Given the description of an element on the screen output the (x, y) to click on. 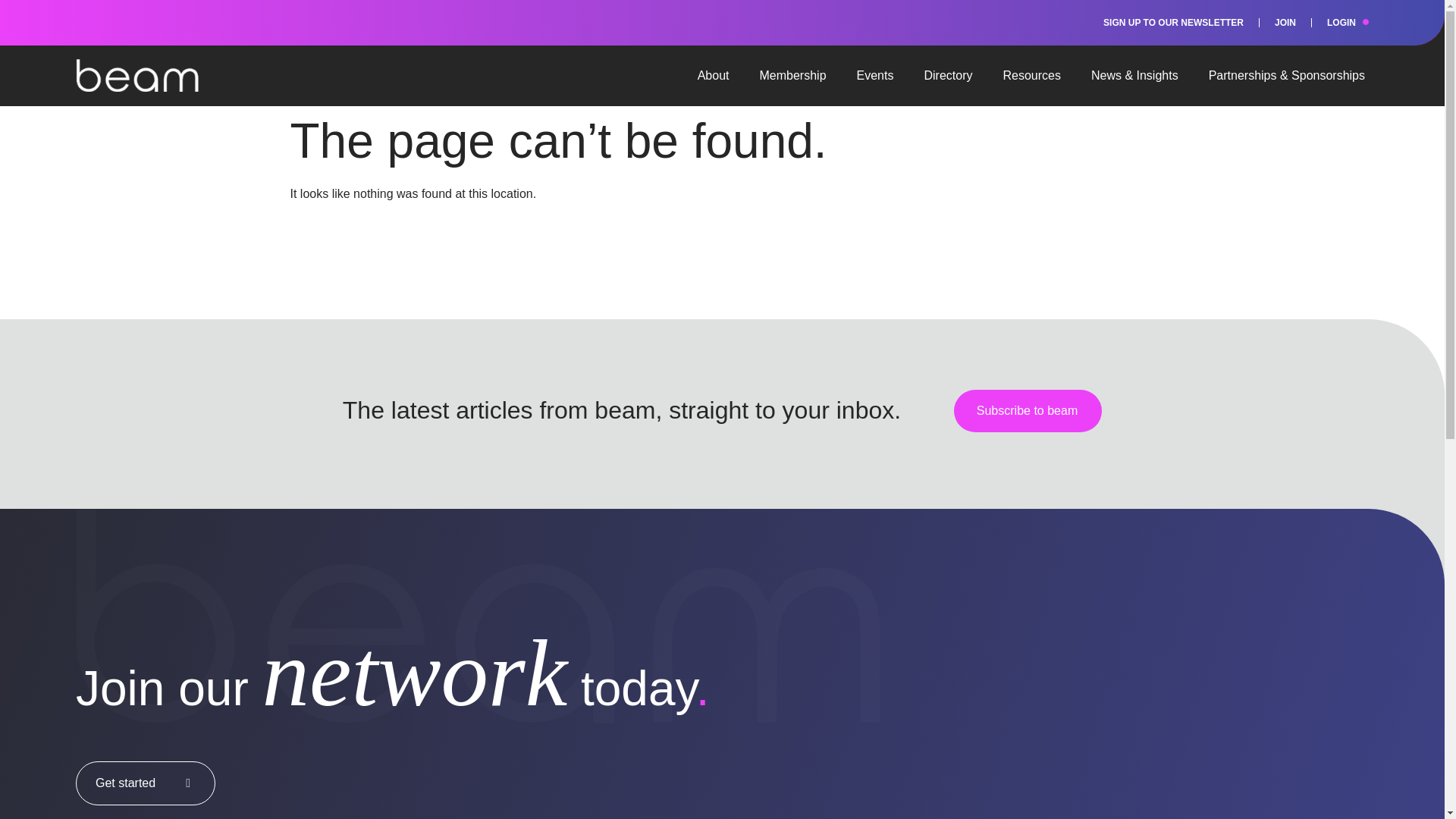
LOGIN (1341, 22)
Membership (792, 75)
Resources (1031, 75)
Directory (947, 75)
JOIN (1285, 22)
About (713, 75)
Events (875, 75)
SIGN UP TO OUR NEWSLETTER (1173, 22)
